Given the description of an element on the screen output the (x, y) to click on. 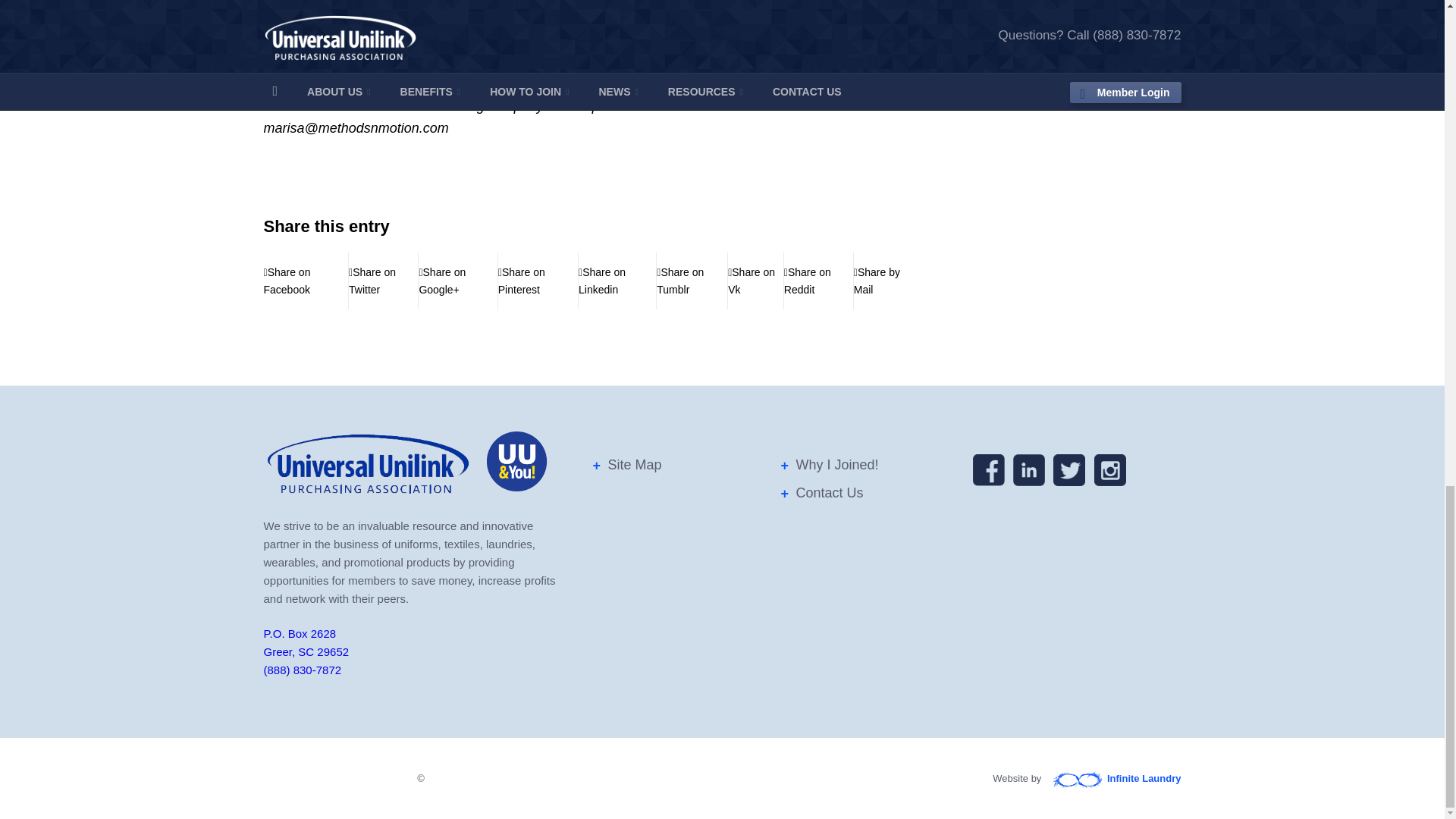
Share on Reddit (818, 281)
Share on Pinterest (537, 281)
Share on Facebook (306, 281)
Share on Vk (755, 281)
Share on Tumblr (691, 281)
Share by Mail (883, 281)
Share on Twitter (383, 281)
Share on Linkedin (617, 281)
